Given the description of an element on the screen output the (x, y) to click on. 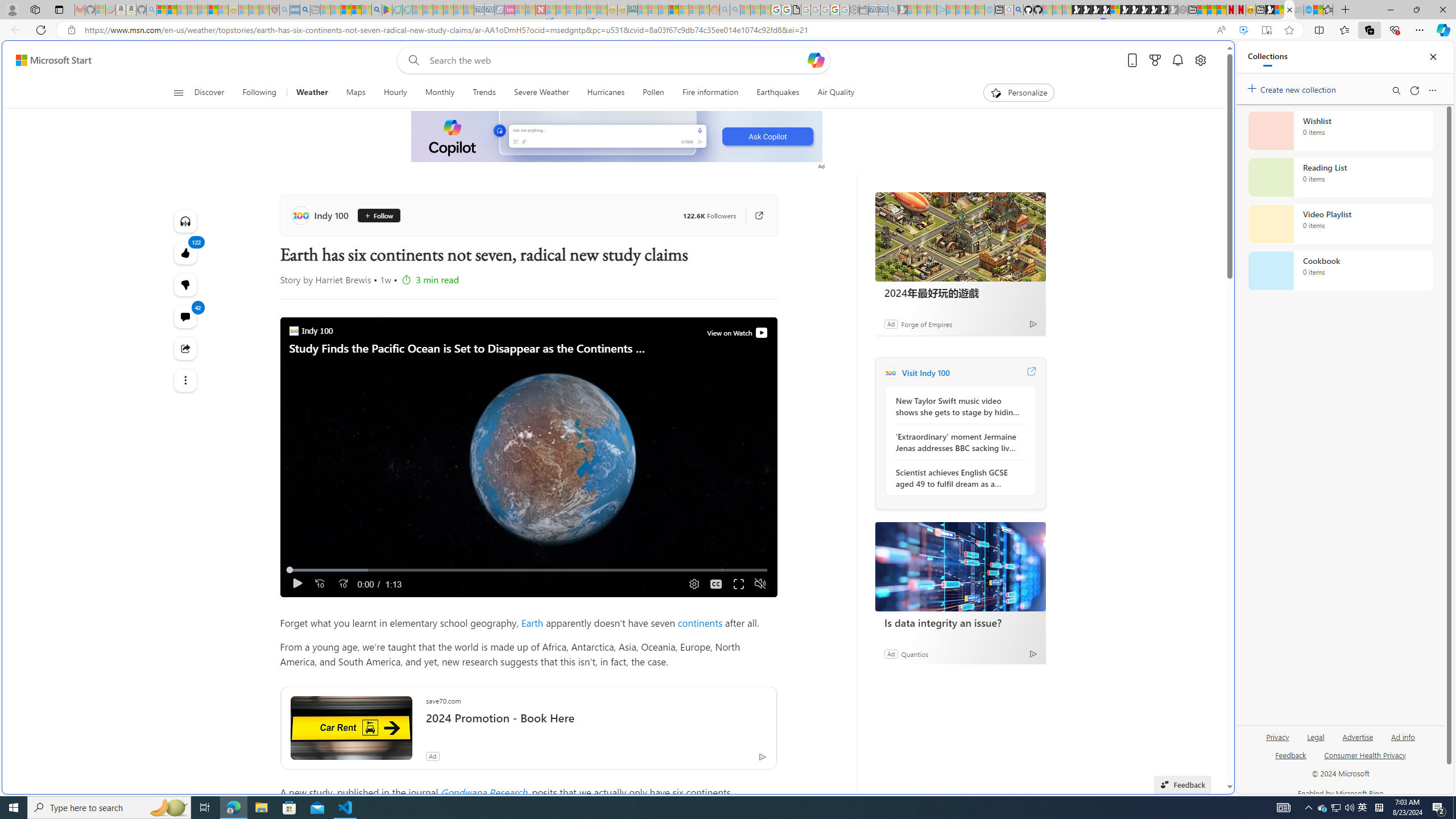
Air Quality (831, 92)
Create new collection (1293, 87)
Robert H. Shmerling, MD - Harvard Health - Sleeping (273, 9)
122 (184, 284)
Play Cave FRVR in your browser | Games from Microsoft Start (1095, 9)
Monthly (439, 92)
